Given the description of an element on the screen output the (x, y) to click on. 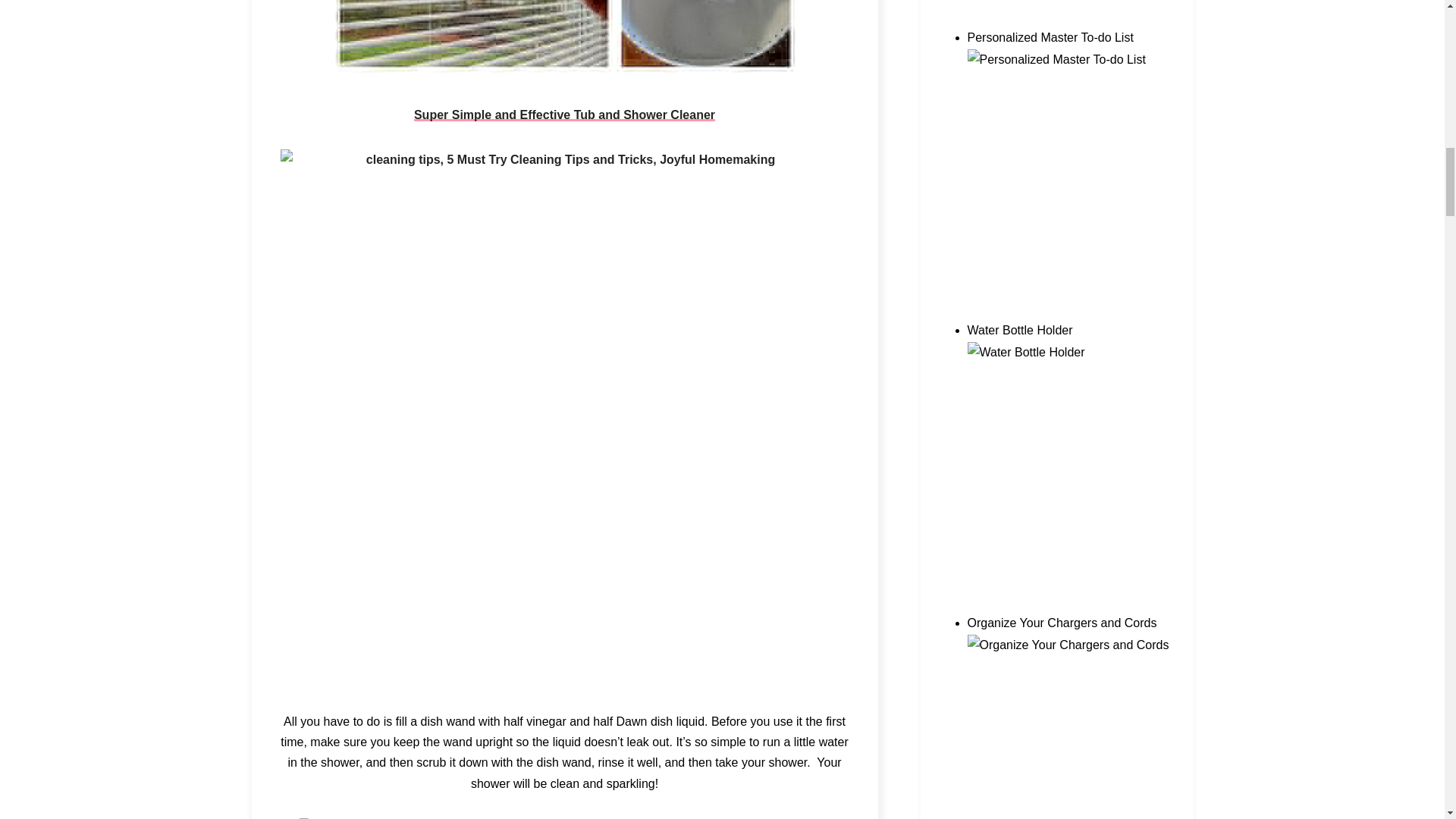
Cleaning Tips and Tricks (564, 40)
Personalized Master Grocery Lists (1069, 22)
